Given the description of an element on the screen output the (x, y) to click on. 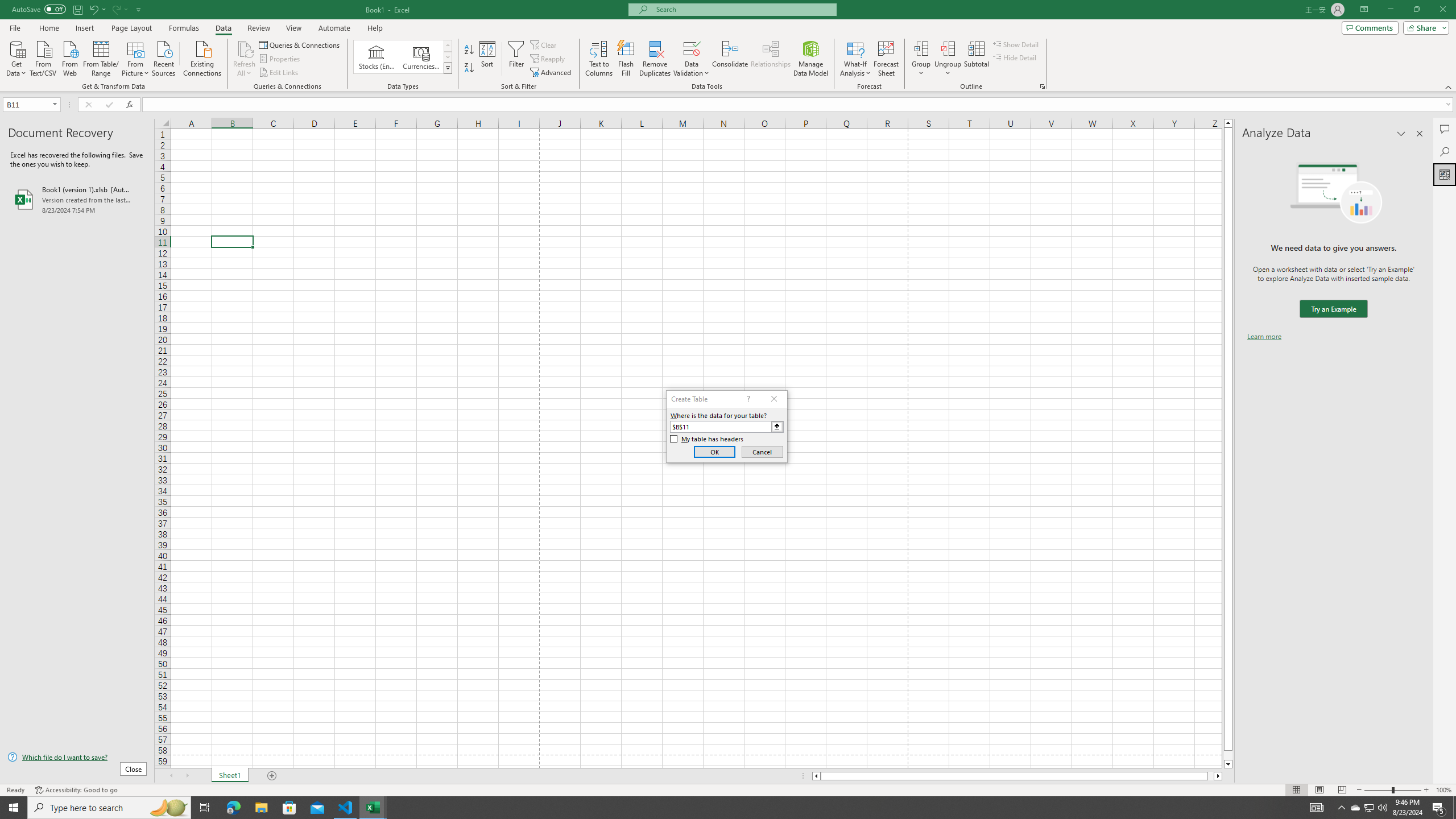
Book1 (version 1).xlsb  [AutoRecovered] (77, 199)
Data Validation... (691, 58)
Group and Outline Settings (1042, 85)
Data Validation... (691, 48)
Sort A to Z (469, 49)
Flash Fill (625, 58)
Class: MsoCommandBar (728, 45)
Stocks (English) (375, 56)
Analyze Data (1444, 173)
Search (1444, 151)
